Given the description of an element on the screen output the (x, y) to click on. 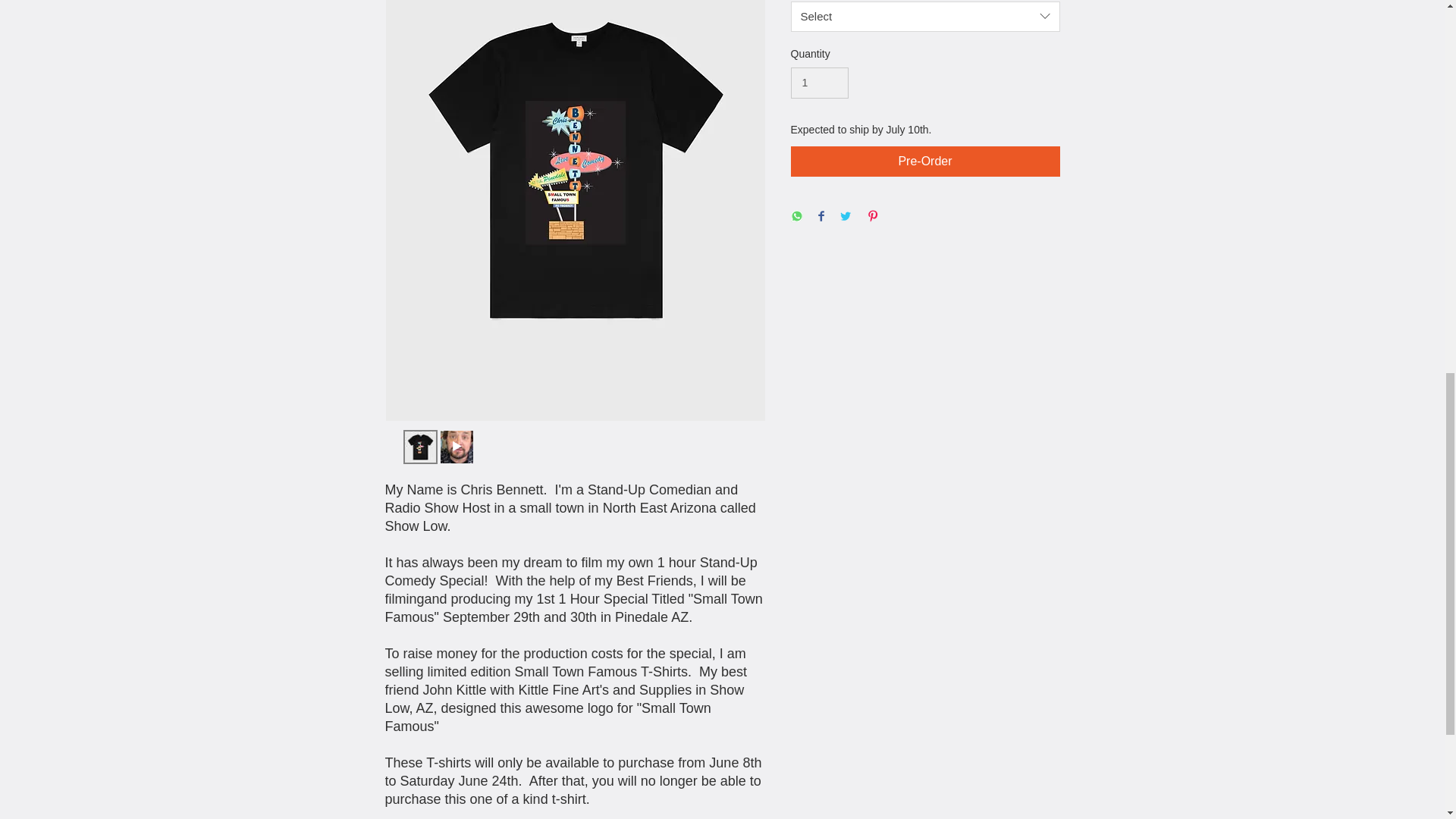
1 (818, 82)
Pre-Order (924, 161)
Select (924, 16)
